Given the description of an element on the screen output the (x, y) to click on. 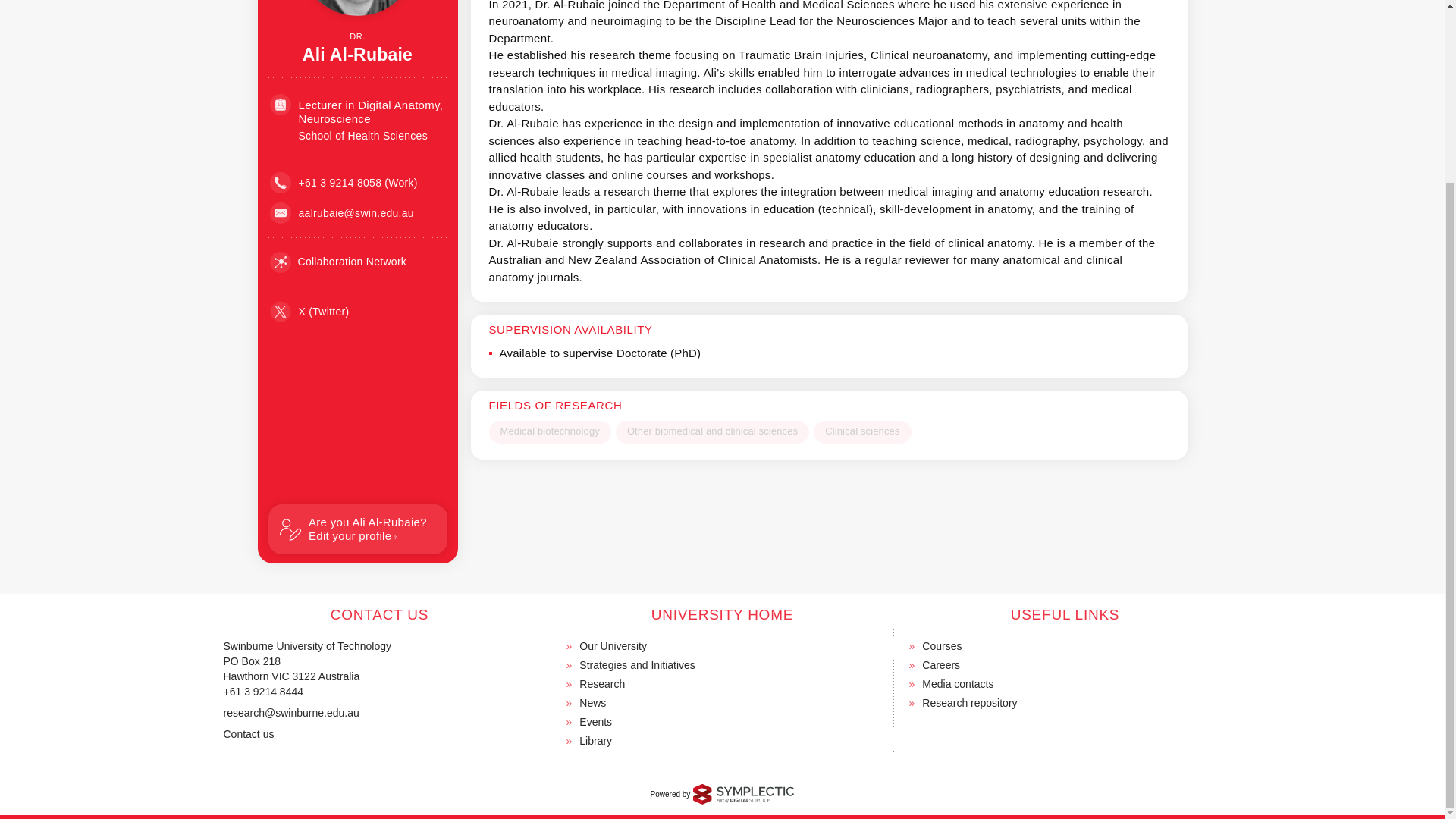
Medical biotechnology (548, 431)
Contact us (247, 734)
Other biomedical and clinical sciences (712, 431)
Powered by (722, 793)
Collaboration Network (338, 261)
Clinical sciences (862, 431)
